Given the description of an element on the screen output the (x, y) to click on. 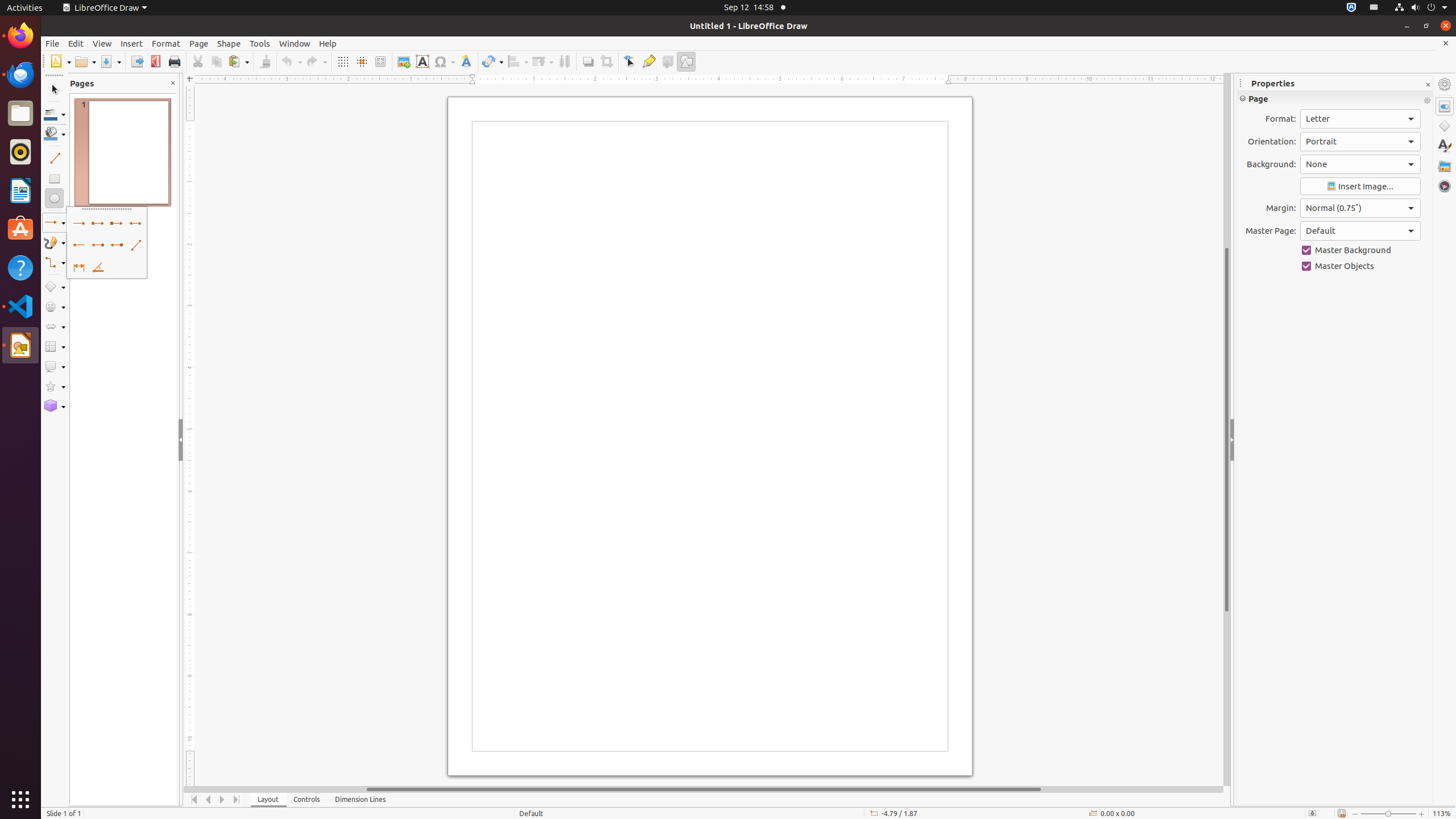
System Element type: menu (1420, 7)
Properties Element type: radio-button (1444, 106)
Master Background Element type: check-box (1360, 249)
Distribution Element type: push-button (564, 61)
Text Box Element type: push-button (421, 61)
